Given the description of an element on the screen output the (x, y) to click on. 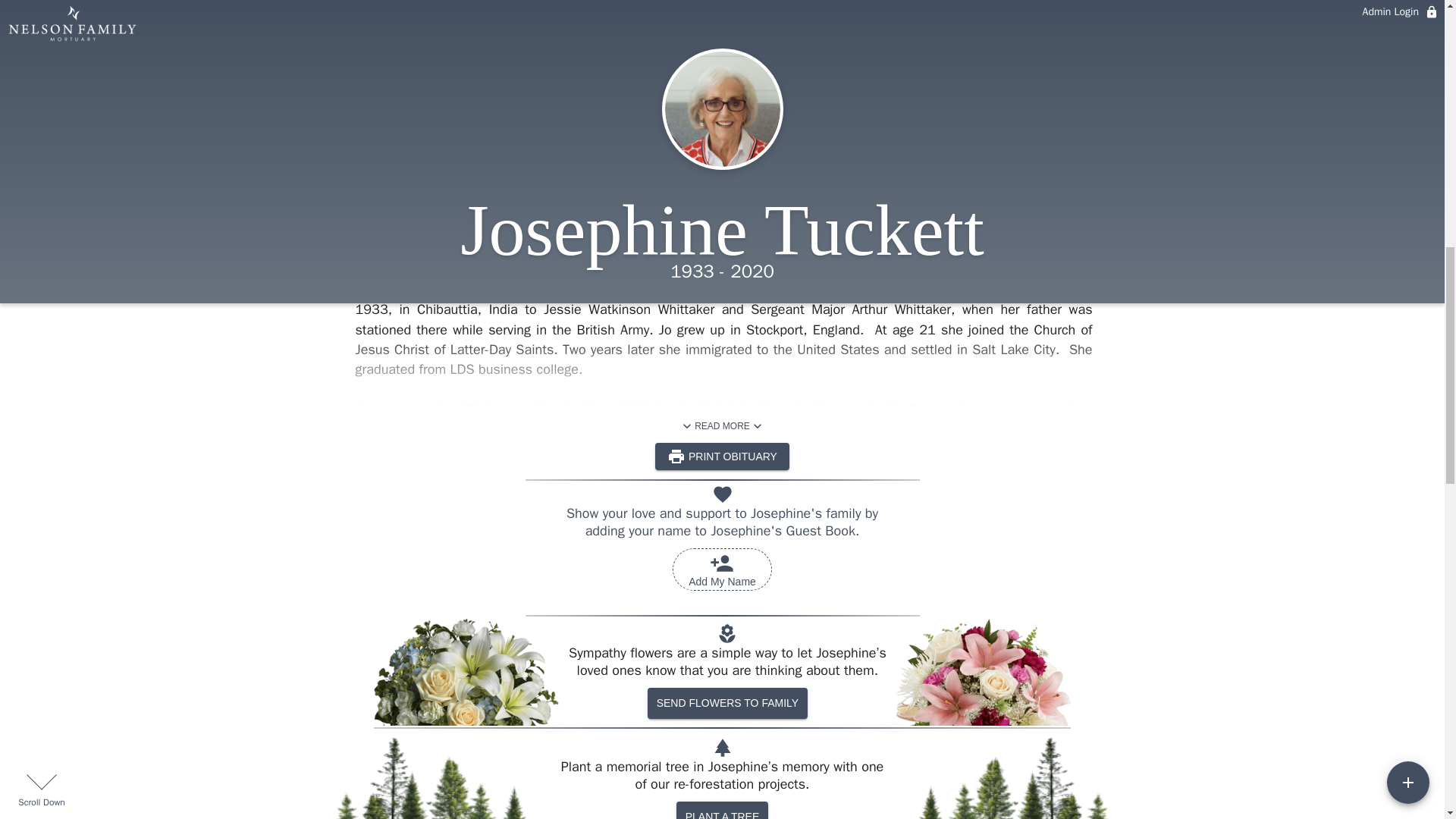
PLANT A TREE (722, 810)
OBITUARY (721, 102)
Add My Name (728, 102)
READ MORE (604, 102)
 PRINT OBITUARY (721, 568)
SEND FLOWERS TO FAMILY (721, 425)
Upload Photos of Josephine (722, 456)
EVENTS (727, 703)
